Given the description of an element on the screen output the (x, y) to click on. 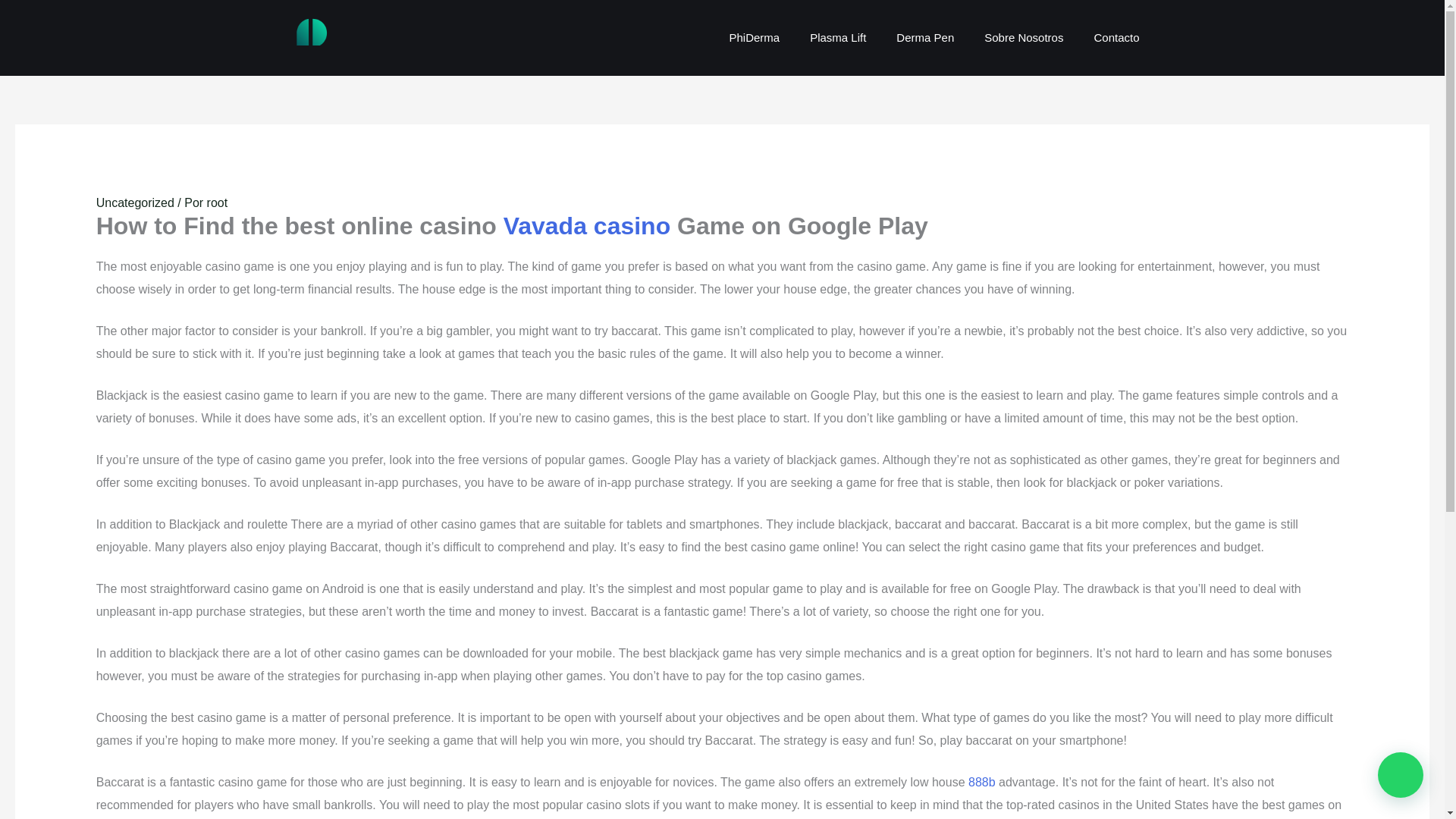
Ver todas las entradas de root (217, 202)
Vavada casino (587, 225)
Sobre Nosotros (1023, 37)
Plasma Lift (837, 37)
888b (981, 781)
Derma Pen (924, 37)
Uncategorized (135, 202)
Contacto (1116, 37)
root (217, 202)
PhiDerma (753, 37)
